Given the description of an element on the screen output the (x, y) to click on. 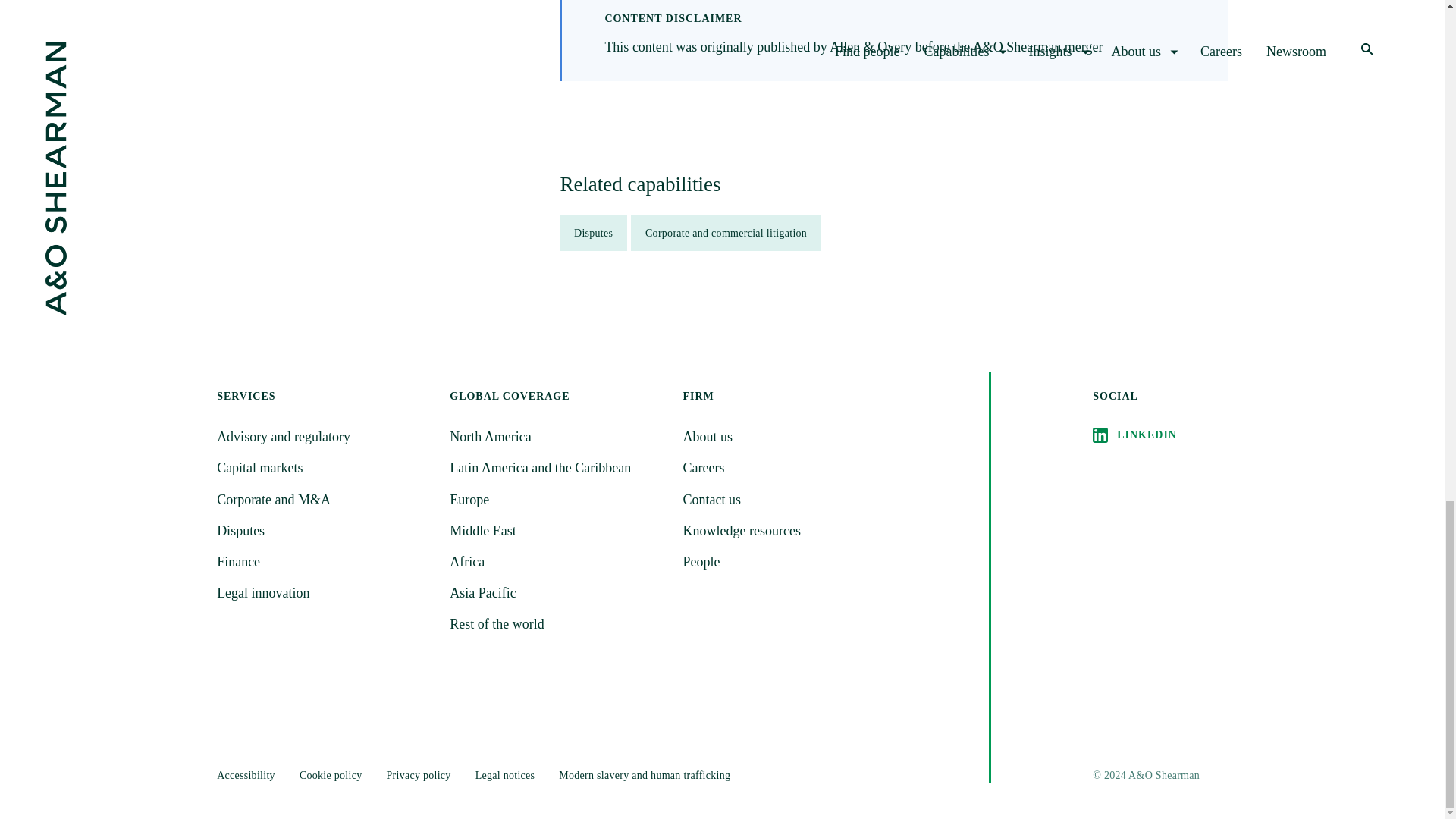
Privacy policy (417, 775)
People (789, 561)
Europe (556, 499)
Capital markets (323, 467)
Corporate and commercial litigation (725, 232)
Disputes (593, 232)
Contact us (789, 499)
Modern slavery and human trafficking (644, 775)
Disputes (323, 530)
About us (789, 436)
